Given the description of an element on the screen output the (x, y) to click on. 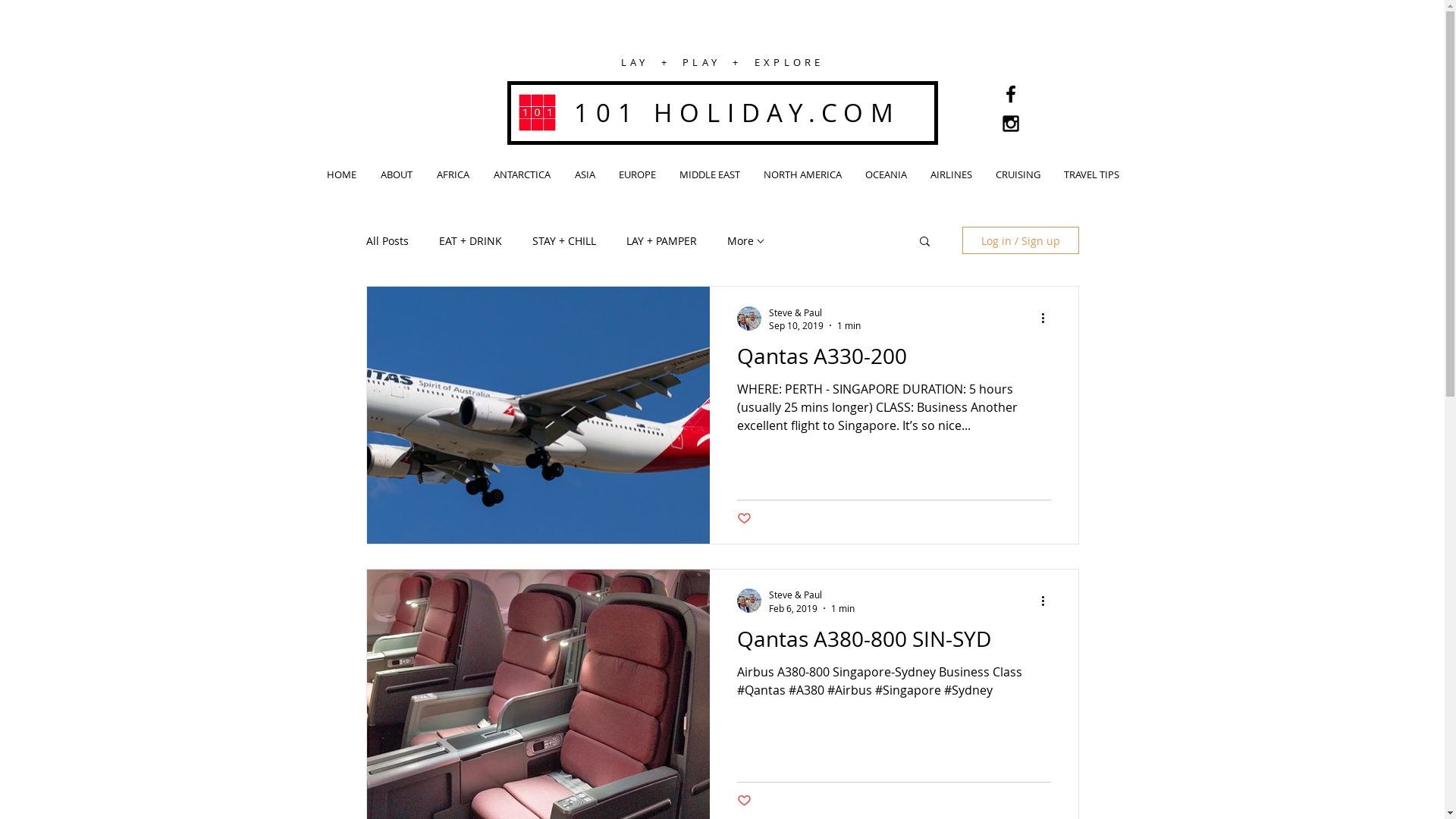
All Posts Element type: text (386, 240)
HOME Element type: text (340, 174)
LAY + PAMPER Element type: text (661, 240)
AIRLINES Element type: text (951, 174)
Post not marked as liked Element type: text (744, 518)
EUROPE Element type: text (636, 174)
ABOUT Element type: text (396, 174)
Qantas A330-200 Element type: text (894, 359)
ASIA Element type: text (584, 174)
Log in / Sign up Element type: text (1019, 240)
OCEANIA Element type: text (886, 174)
ANTARCTICA Element type: text (520, 174)
CRUISING Element type: text (1018, 174)
Qantas A380-800 SIN-SYD Element type: text (894, 642)
MIDDLE EAST Element type: text (709, 174)
EAT + DRINK Element type: text (469, 240)
101 HOLIDAY.COM Element type: text (737, 112)
AFRICA Element type: text (452, 174)
Post not marked as liked Element type: text (744, 800)
TRAVEL TIPS Element type: text (1091, 174)
STAY + CHILL Element type: text (564, 240)
NORTH AMERICA Element type: text (802, 174)
